Given the description of an element on the screen output the (x, y) to click on. 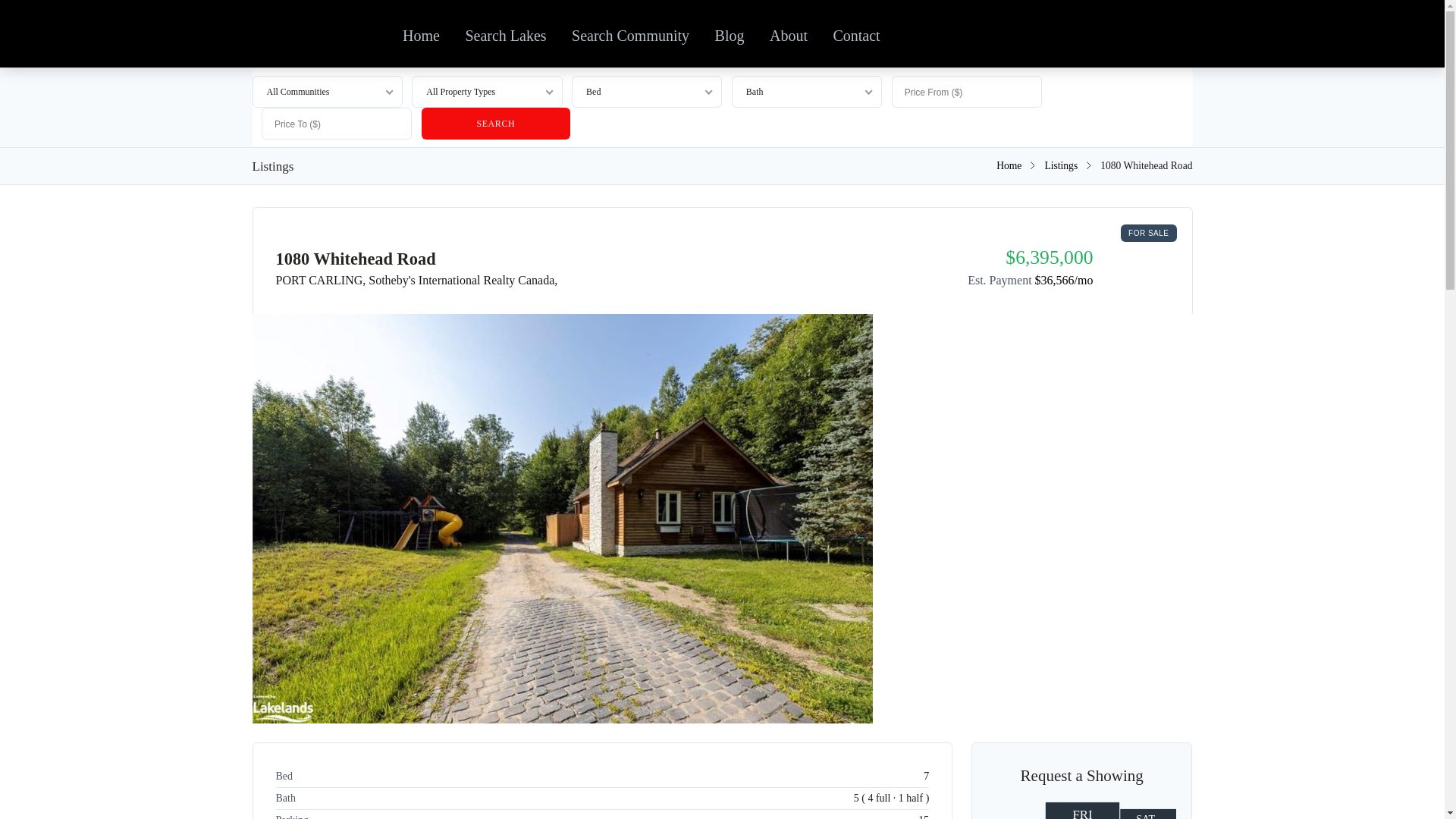
Search Community (630, 33)
Andrew Bulloch (1008, 165)
Search Lakes (504, 33)
About (788, 33)
Contact (856, 33)
Search (496, 123)
